Given the description of an element on the screen output the (x, y) to click on. 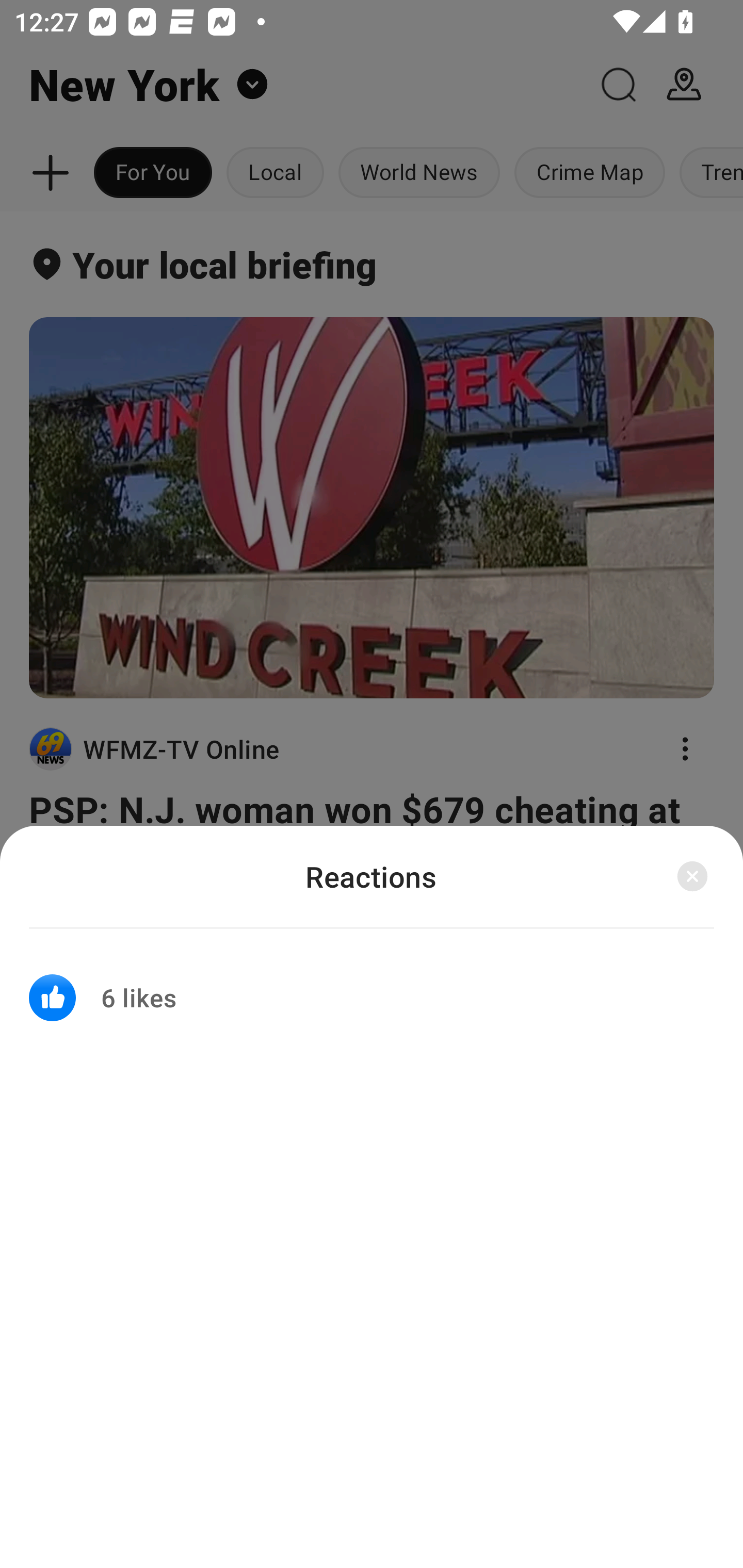
6 likes (371, 985)
